Given the description of an element on the screen output the (x, y) to click on. 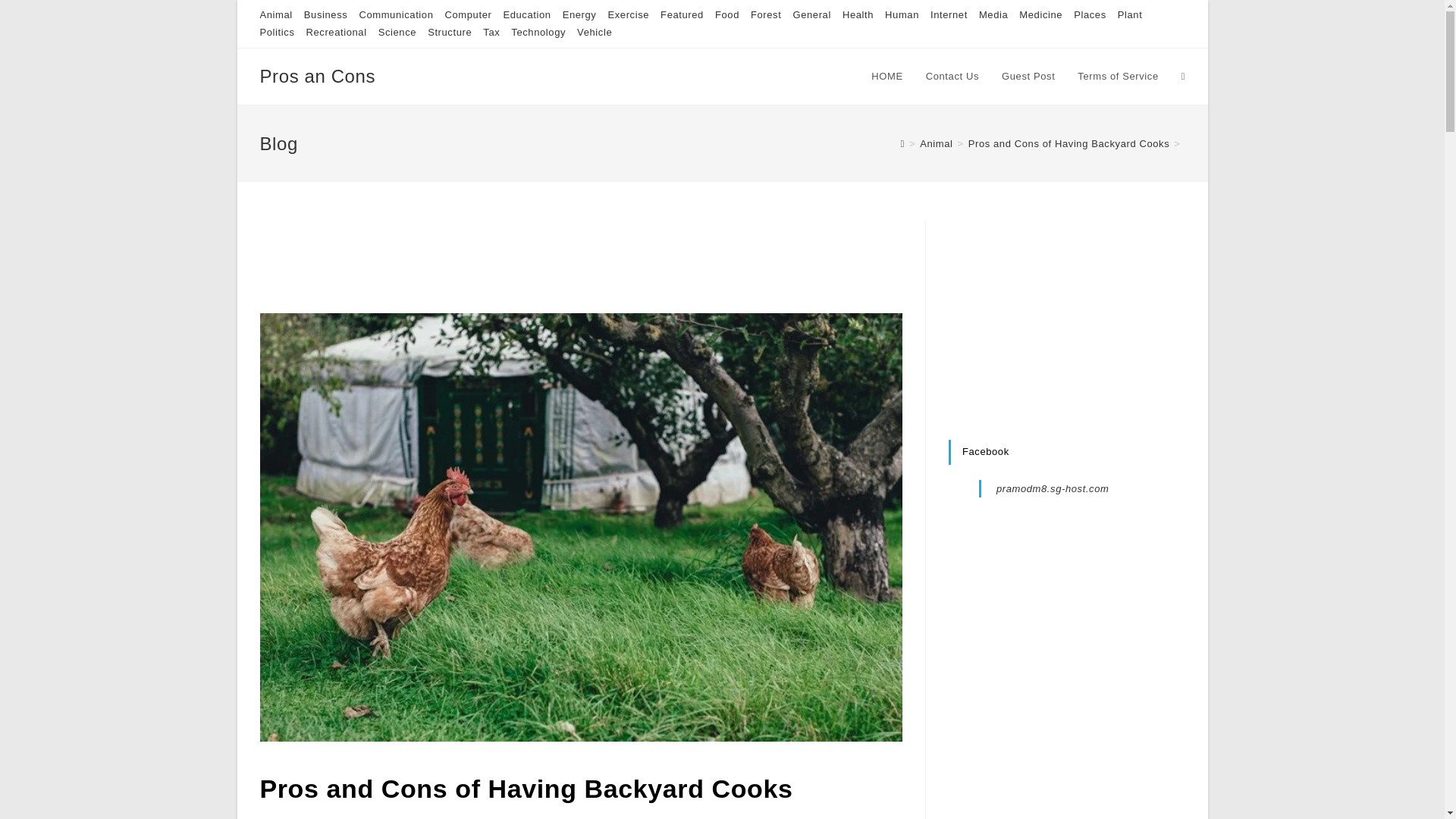
Energy (579, 14)
Science (397, 31)
Business (325, 14)
Exercise (628, 14)
Terms of Service (1117, 76)
Tax (491, 31)
Places (1090, 14)
Internet (949, 14)
Pros an Cons (317, 76)
Food (726, 14)
